Given the description of an element on the screen output the (x, y) to click on. 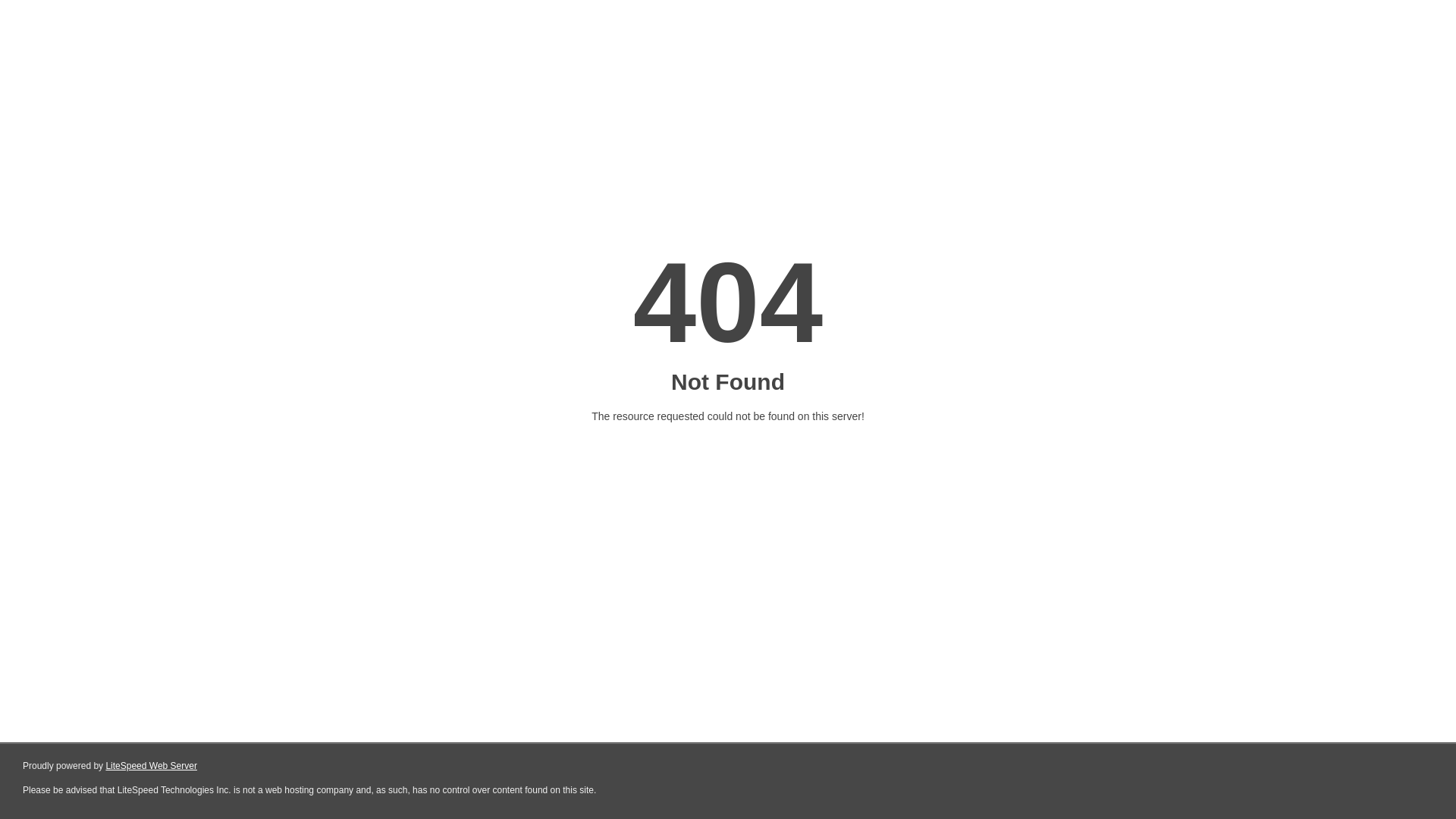
LiteSpeed Web Server Element type: text (151, 765)
